Given the description of an element on the screen output the (x, y) to click on. 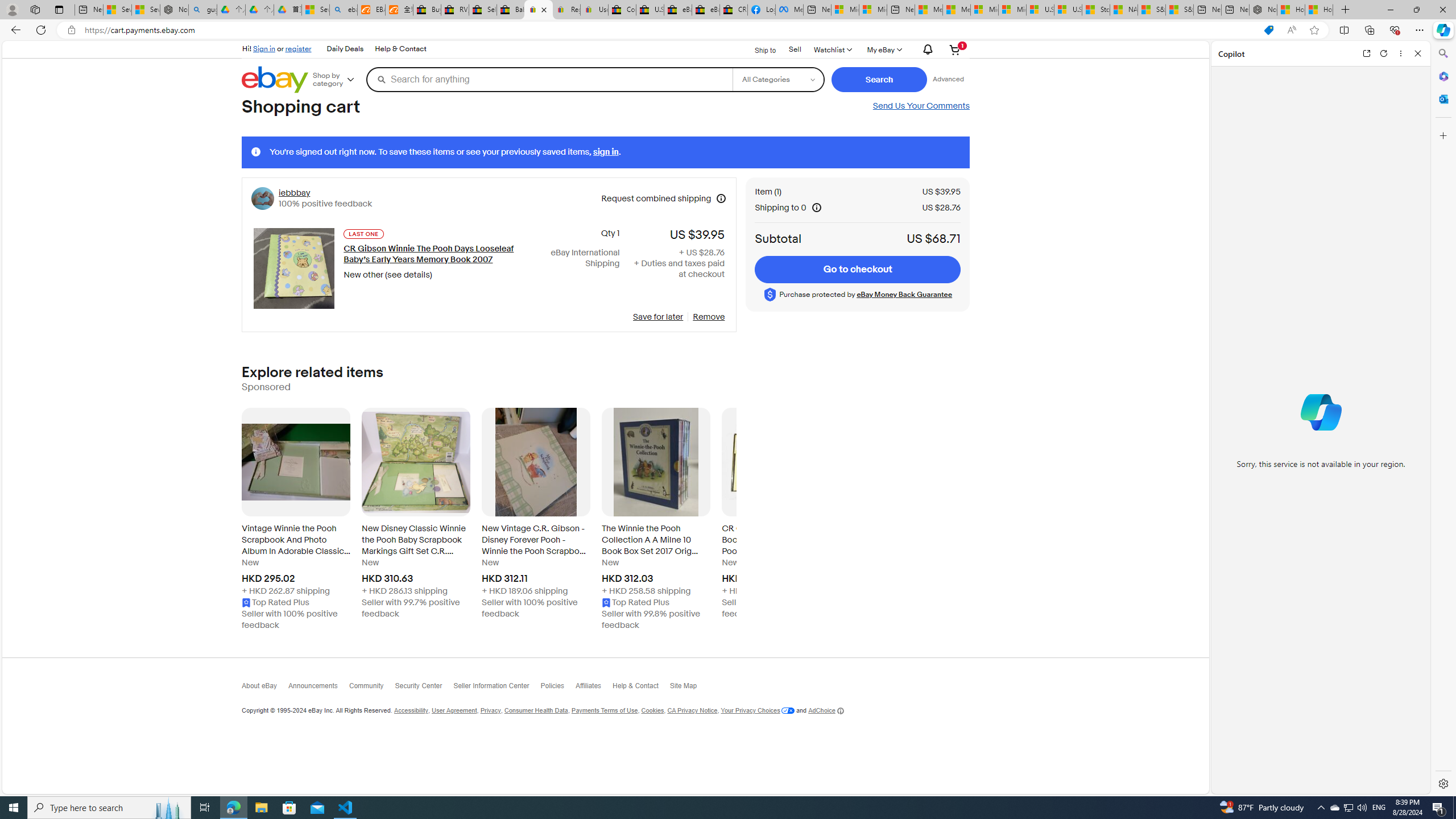
AdChoice (826, 710)
Buy Auto Parts & Accessories | eBay (426, 9)
User Agreement (453, 710)
Announcements (318, 688)
Site Map (689, 688)
guge yunpan - Search (202, 9)
Shopping in Microsoft Edge (1268, 29)
Send Us Your Comments - opens in new window or tab (920, 105)
Watchlist (831, 49)
Sign in (264, 48)
